Given the description of an element on the screen output the (x, y) to click on. 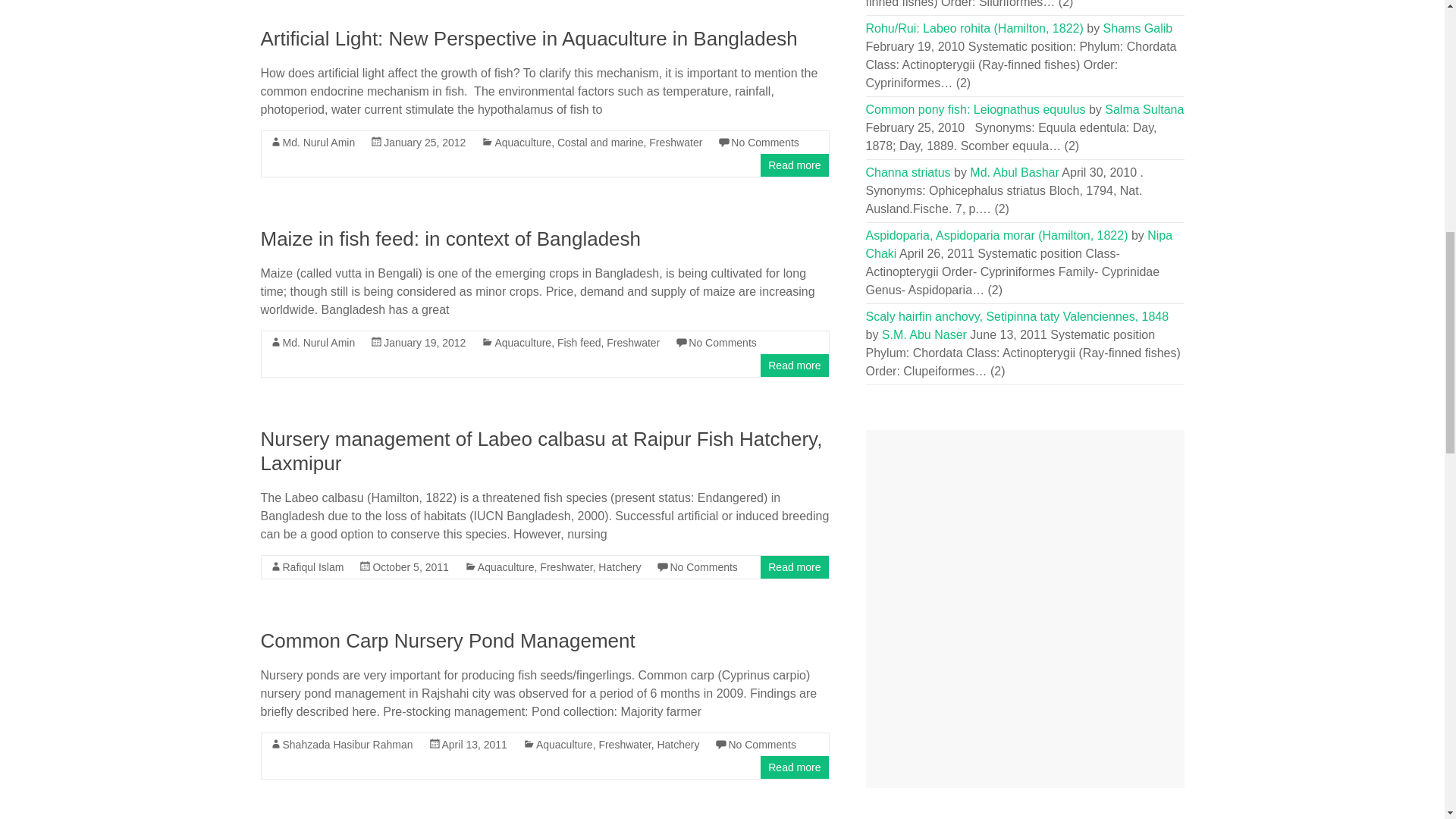
11:54 pm (410, 567)
9:04 pm (424, 342)
9:22 pm (473, 744)
Maize in fish feed: in context of Bangladesh (451, 238)
6:46 pm (424, 142)
Common Carp Nursery Pond Management (447, 640)
